Given the description of an element on the screen output the (x, y) to click on. 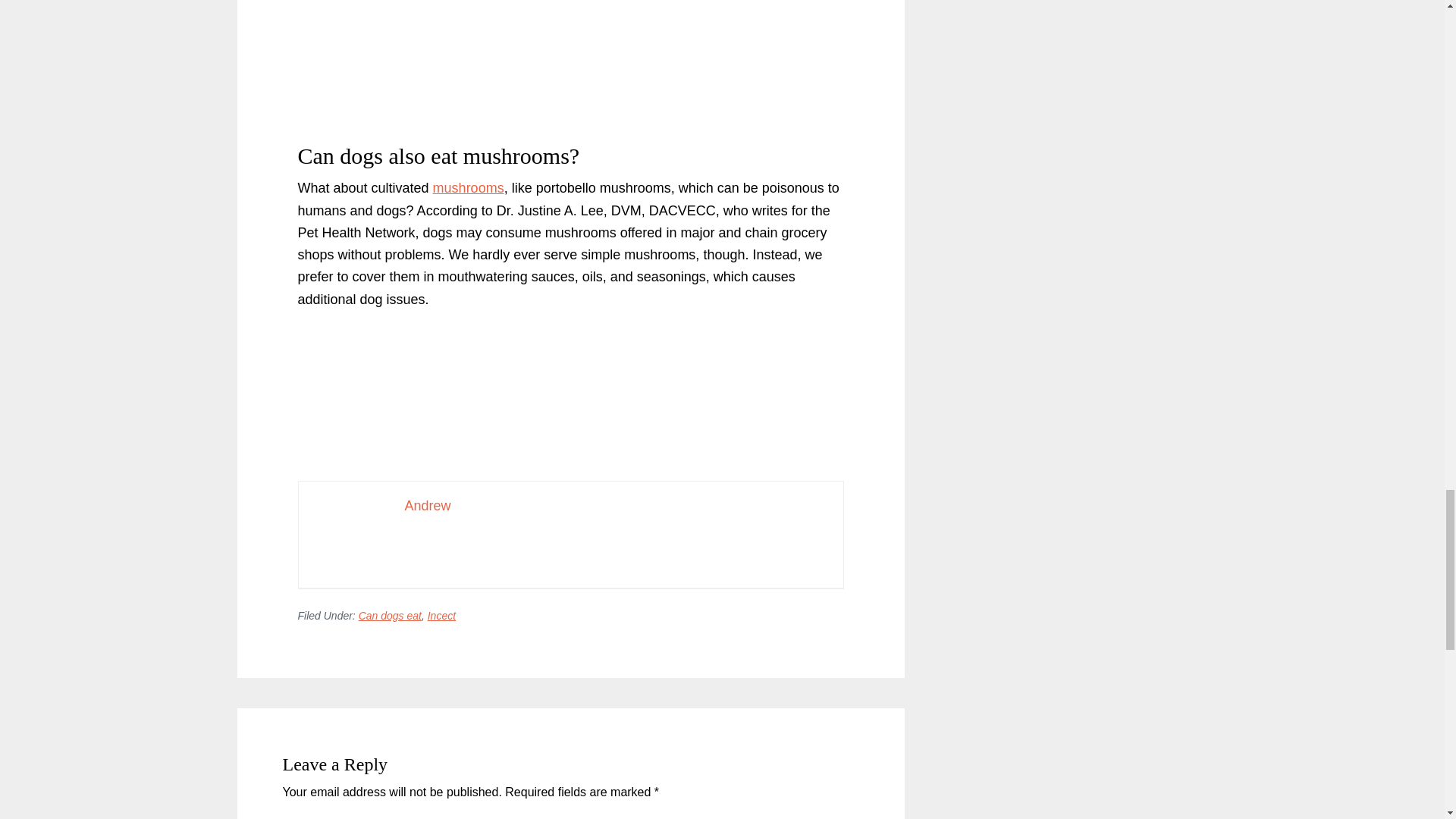
Can dogs eat (390, 615)
Andrew (427, 505)
mushrooms (467, 187)
